Given the description of an element on the screen output the (x, y) to click on. 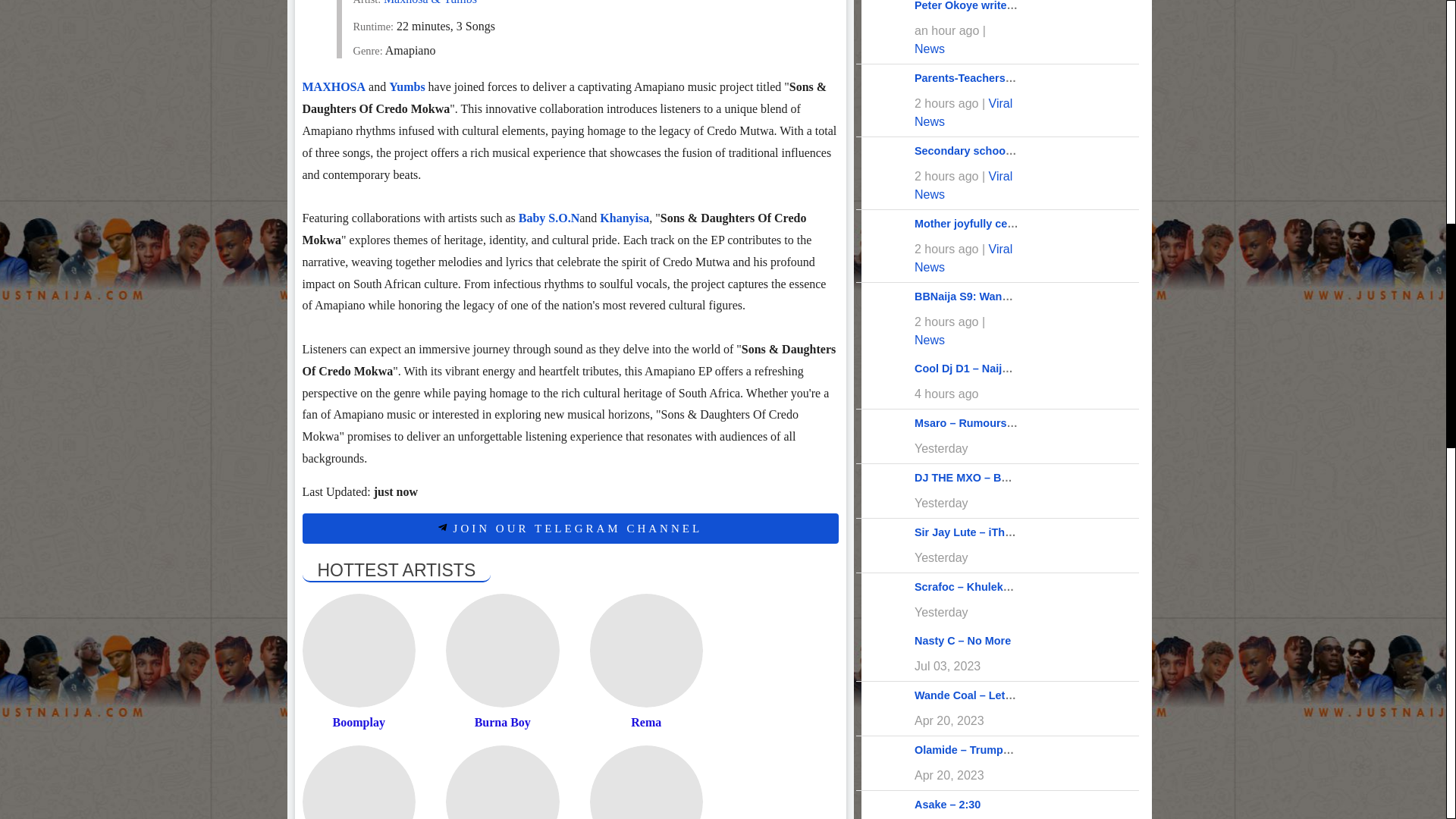
Burna Boy (502, 650)
Nasty C (357, 782)
Rema (646, 650)
Asake (646, 782)
Boomplay (357, 650)
Wizkid (502, 782)
